Given the description of an element on the screen output the (x, y) to click on. 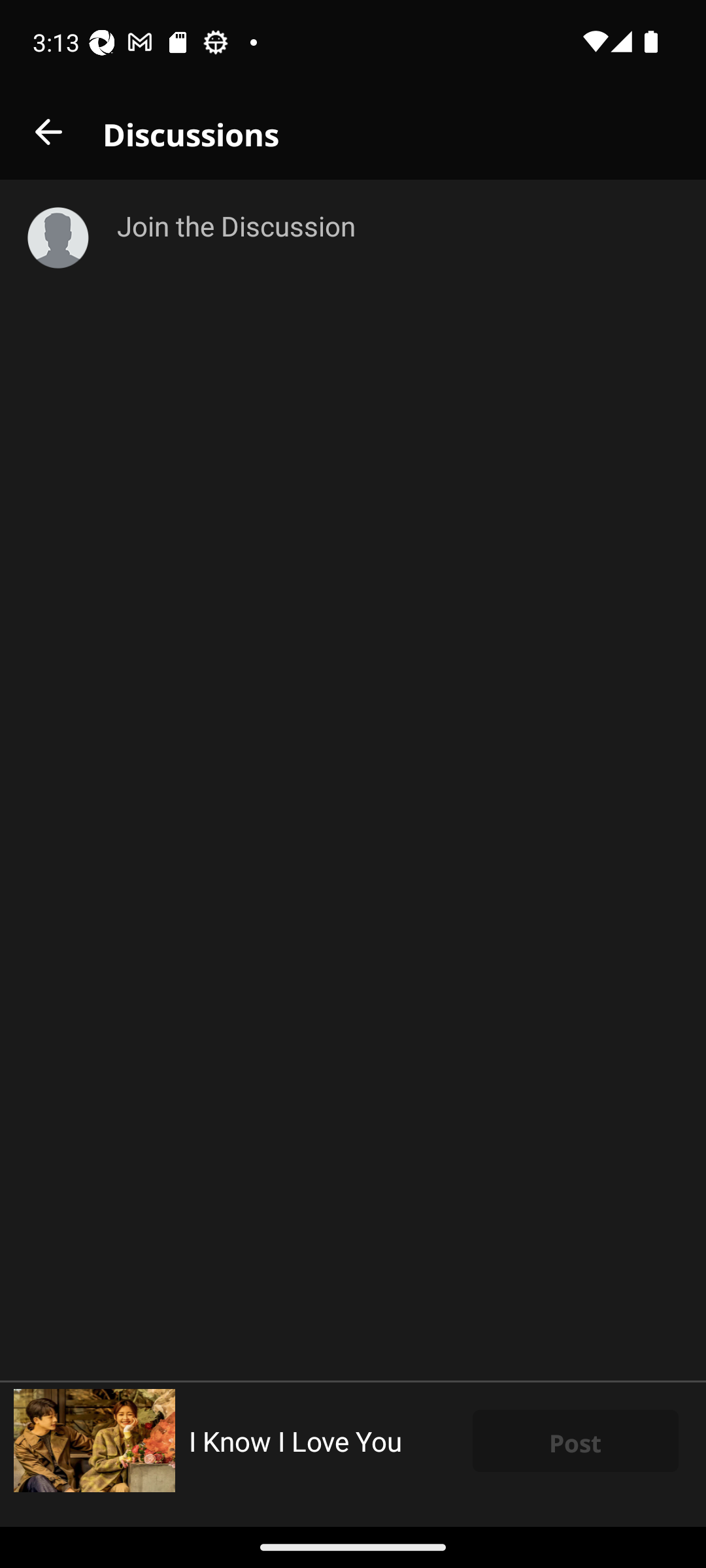
close_button (48, 131)
Join the Discussion (397, 779)
Post (575, 1440)
